Given the description of an element on the screen output the (x, y) to click on. 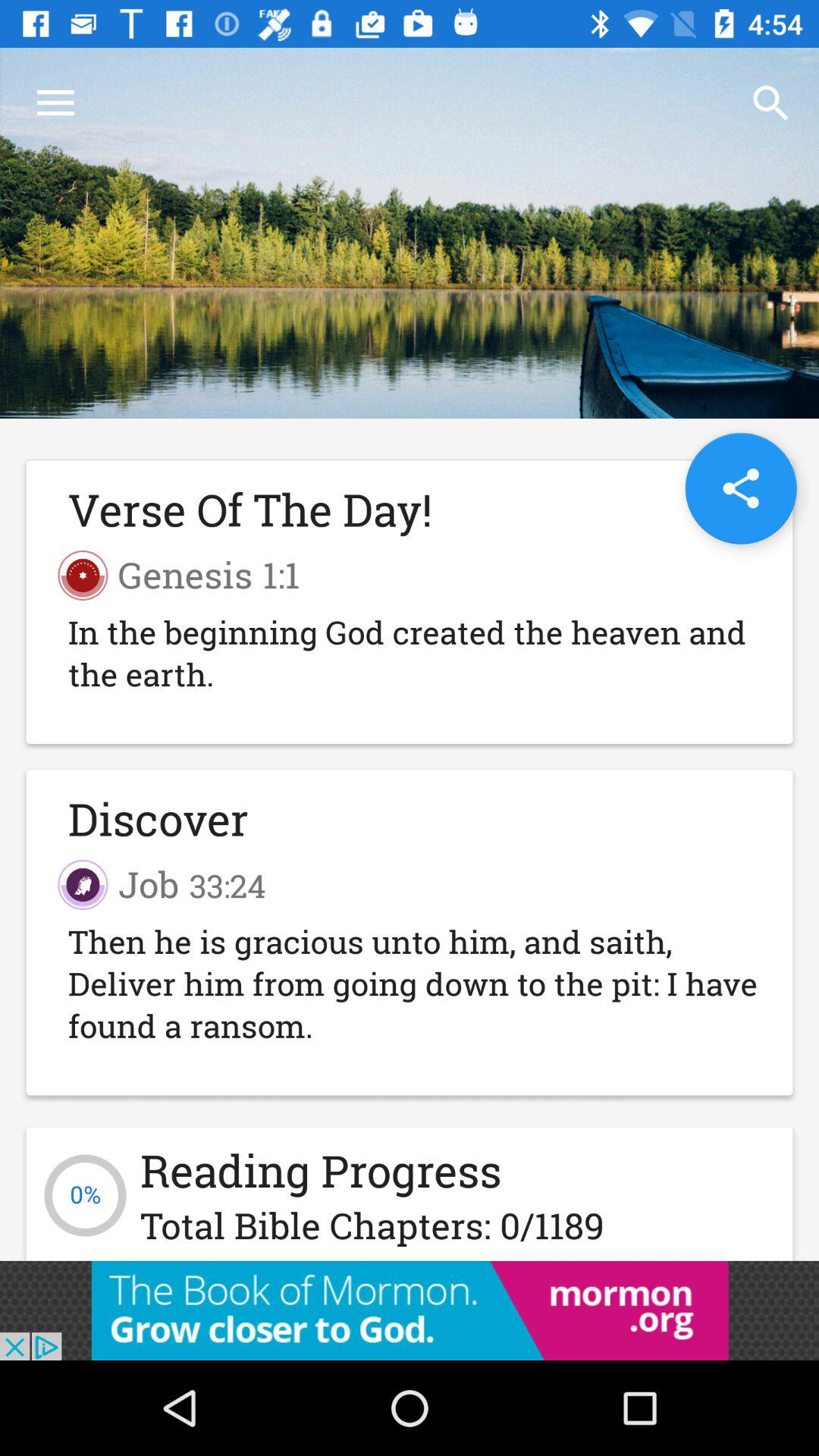
click to visit advertiser (409, 1310)
